Given the description of an element on the screen output the (x, y) to click on. 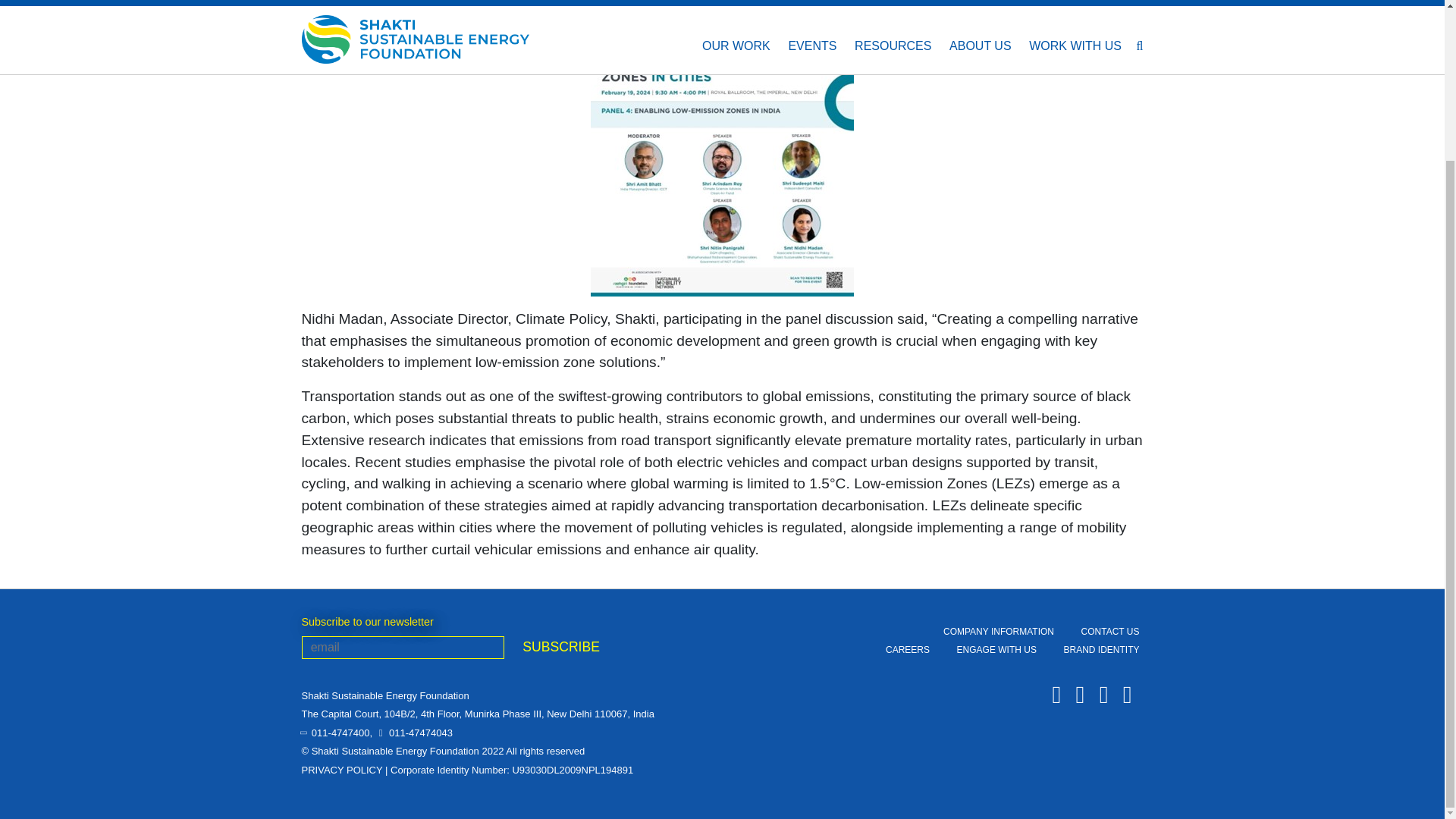
Subscribe (560, 647)
